Given the description of an element on the screen output the (x, y) to click on. 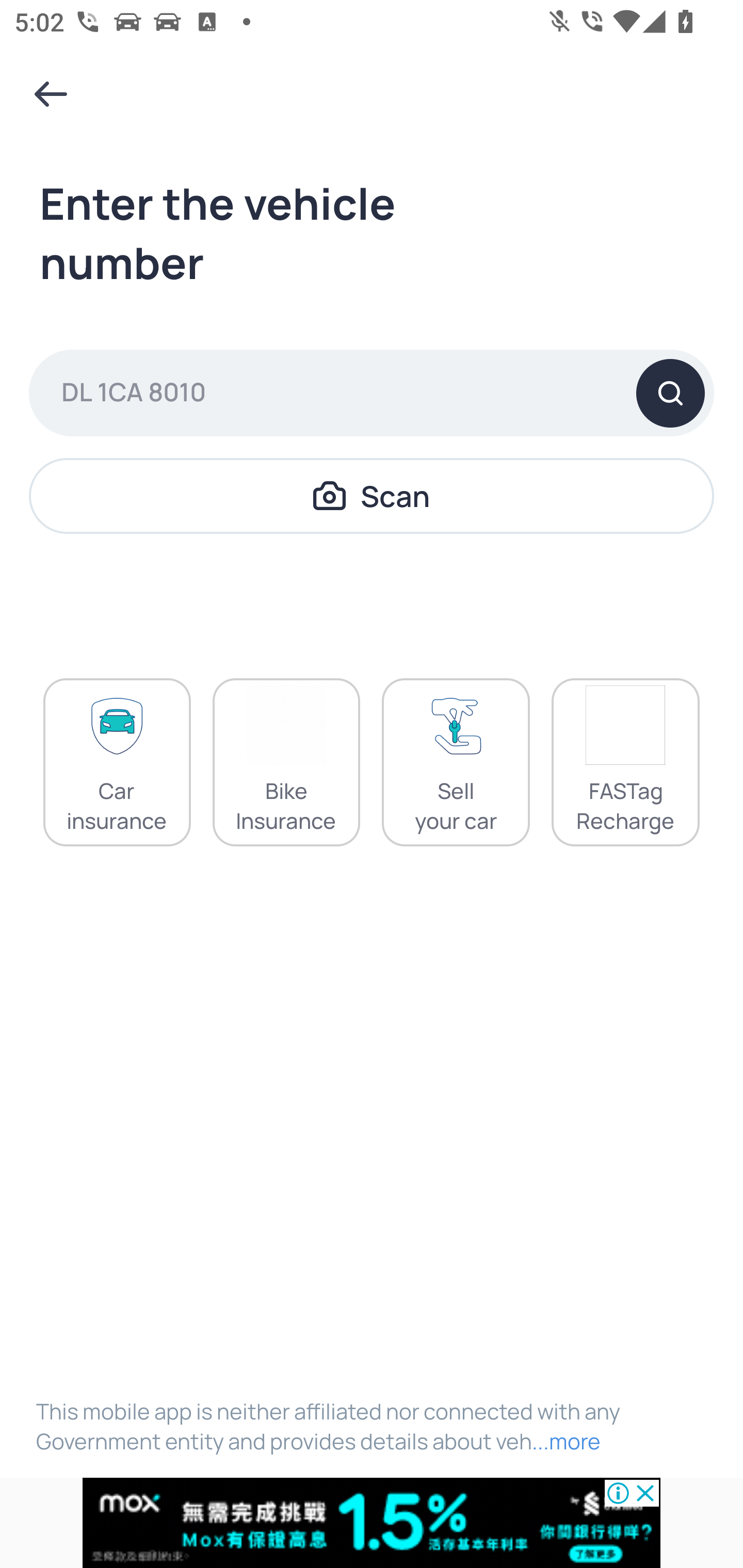
Navigate up (50, 93)
DL 1CA 8010 (371, 392)
Scan (371, 495)
Car
insurance (116, 762)
Bike
Insurance (286, 762)
Sell
your car (455, 762)
FASTag Recharge (625, 762)
Advertisement (371, 1522)
